Given the description of an element on the screen output the (x, y) to click on. 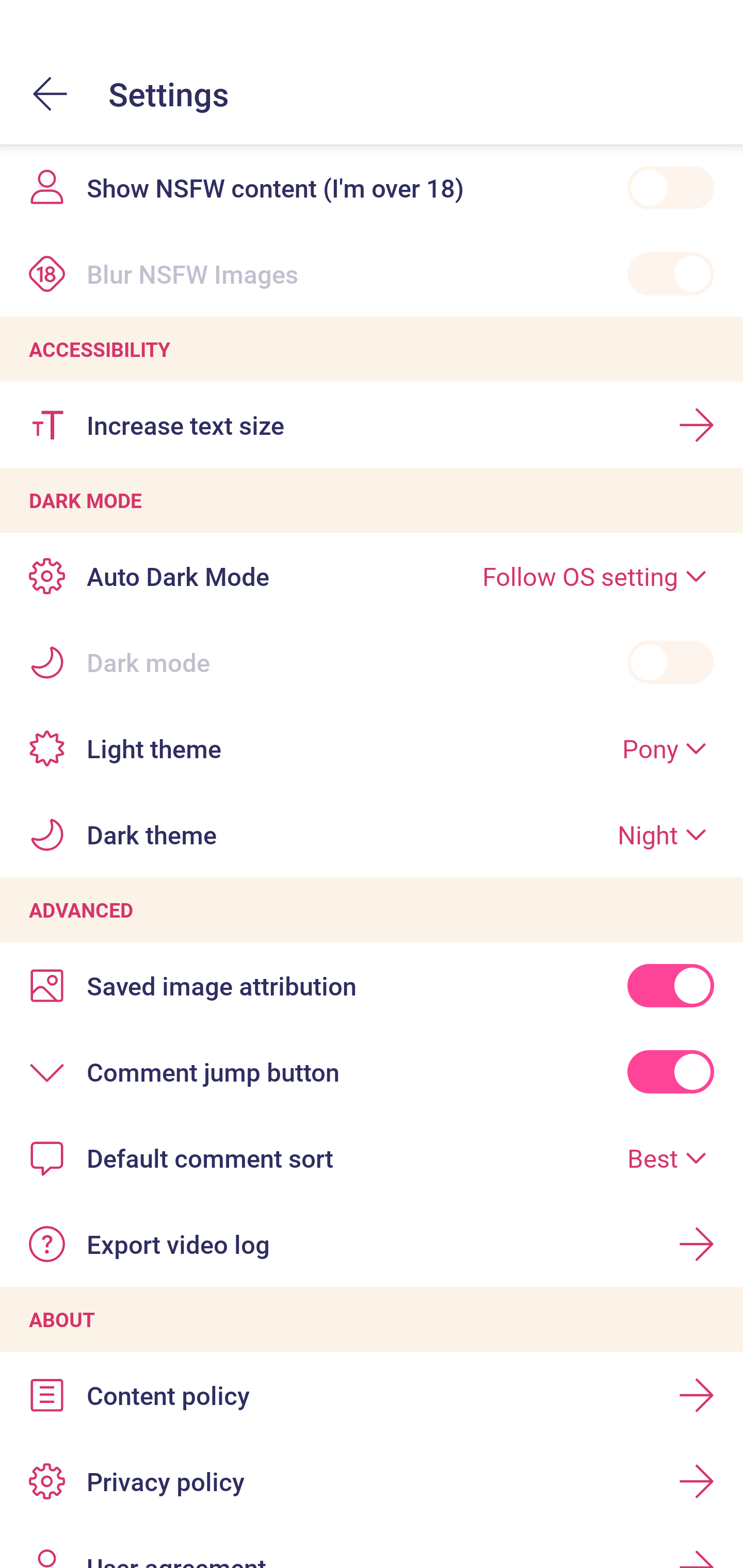
Navigate up (50, 93)
Show NSFW content (I'm over 18) (371, 187)
Blur NSFW Images (371, 273)
Increase text size (371, 424)
Auto Dark Mode Follow OS setting (371, 576)
Dark mode (371, 662)
Light theme Pony (371, 748)
Dark theme Night (371, 834)
Saved image attribution (371, 985)
Comment jump button (371, 1071)
Default comment sort Best (371, 1157)
Export video log (371, 1244)
Content policy (371, 1394)
Privacy policy (371, 1480)
